Given the description of an element on the screen output the (x, y) to click on. 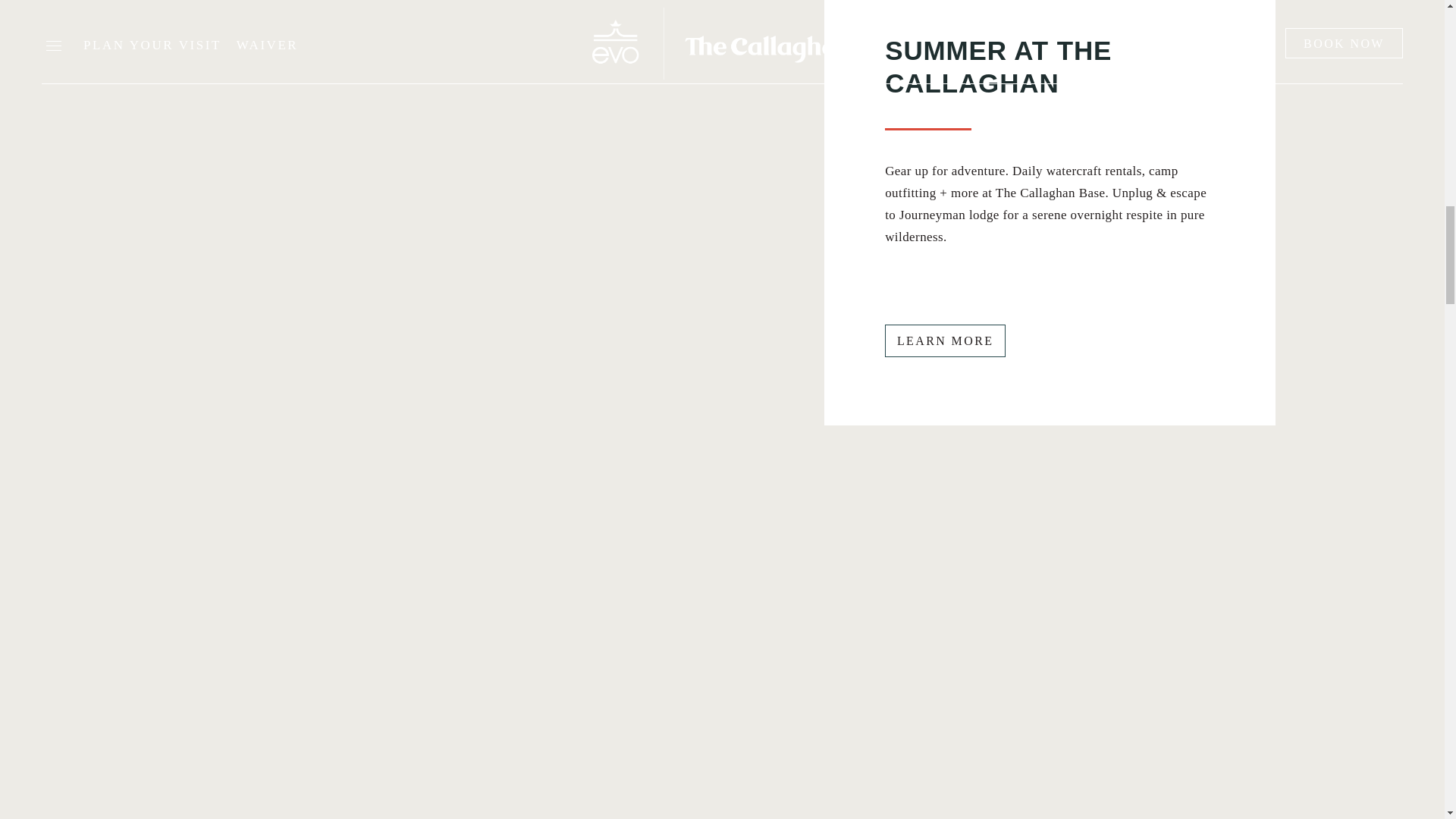
LEARN MORE (945, 340)
